Given the description of an element on the screen output the (x, y) to click on. 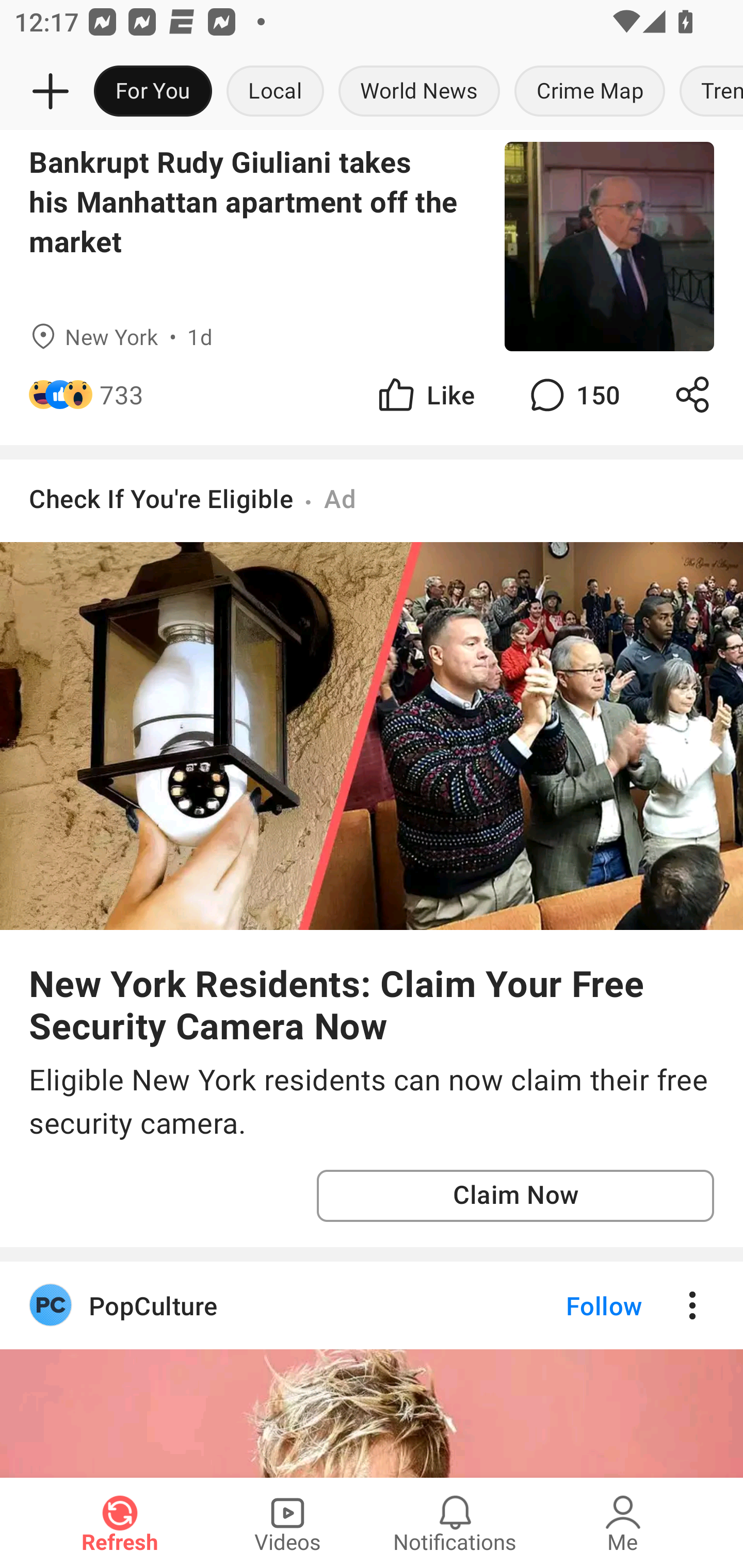
For You (152, 91)
Local (275, 91)
World News (419, 91)
Crime Map (589, 91)
733 (121, 394)
Like (425, 394)
150 (572, 394)
Check If You're Eligible (160, 498)
Claim Now (515, 1195)
PopCulture Follow (371, 1306)
Follow (569, 1306)
Videos (287, 1522)
Notifications (455, 1522)
Me (622, 1522)
